Given the description of an element on the screen output the (x, y) to click on. 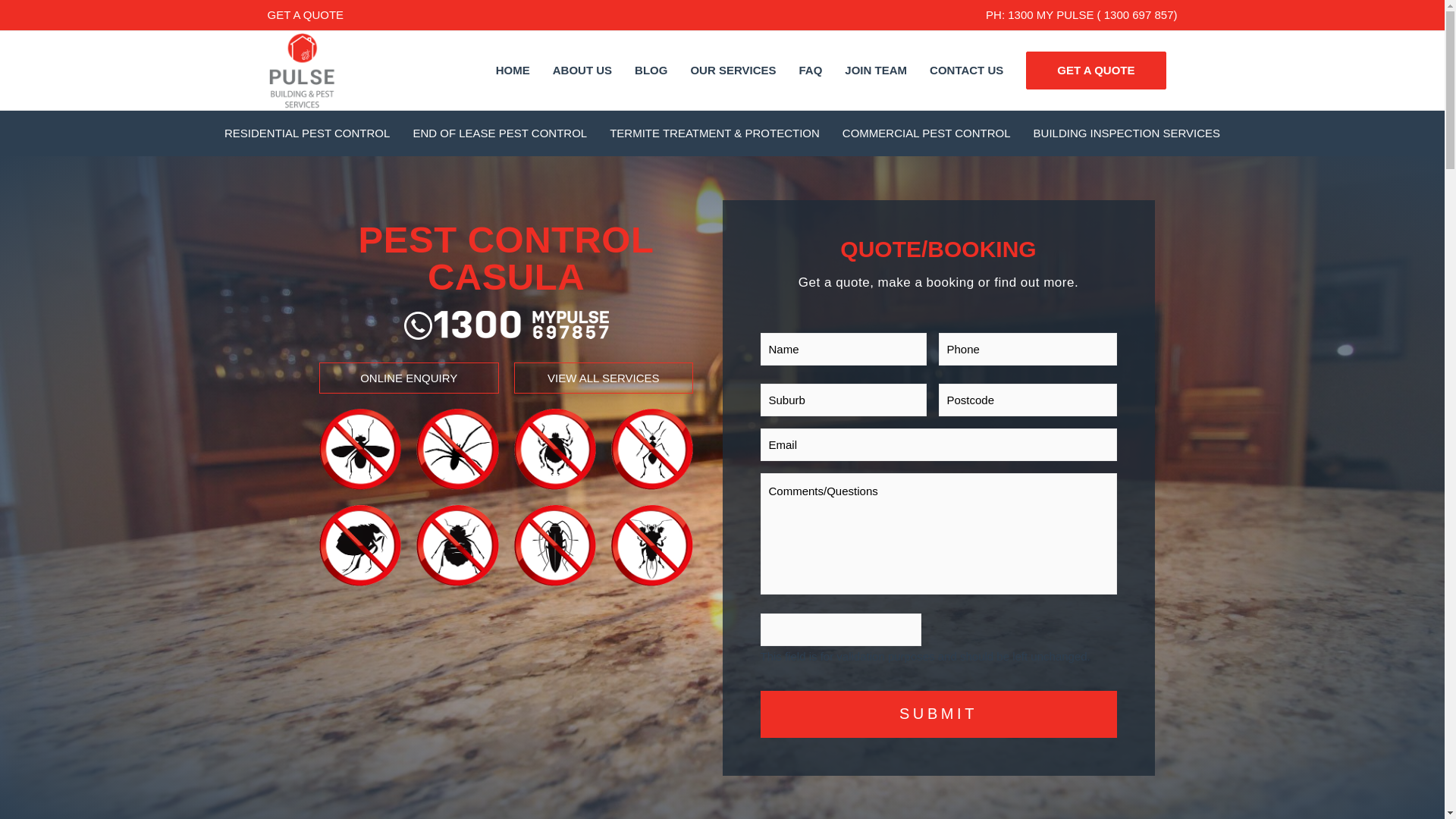
RESIDENTIAL PEST CONTROL (306, 133)
ONLINE ENQUIRY (408, 377)
BLOG (650, 69)
COMMERCIAL PEST CONTROL (926, 133)
GET A QUOTE (1096, 69)
GET A QUOTE (304, 14)
HOME (512, 69)
ABOUT US (582, 69)
Submit (938, 714)
OUR SERVICES (732, 69)
END OF LEASE PEST CONTROL (499, 133)
FAQ (810, 69)
GET A QUOTE (1096, 70)
CONTACT US (966, 69)
BUILDING INSPECTION SERVICES (1126, 133)
